Given the description of an element on the screen output the (x, y) to click on. 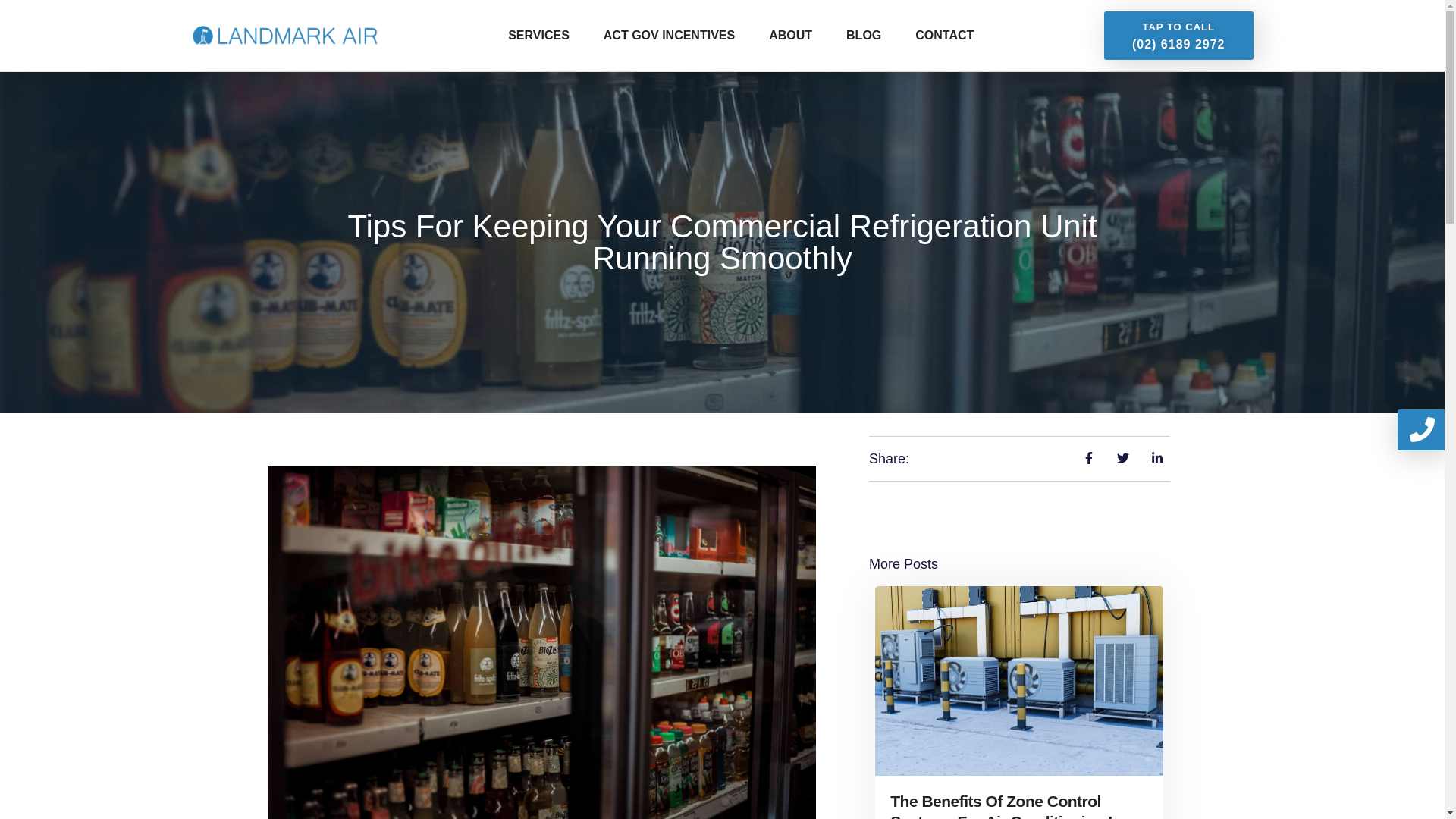
CONTACT (944, 35)
ABOUT (790, 35)
ACT GOV INCENTIVES (668, 35)
BLOG (863, 35)
SERVICES (538, 35)
